Given the description of an element on the screen output the (x, y) to click on. 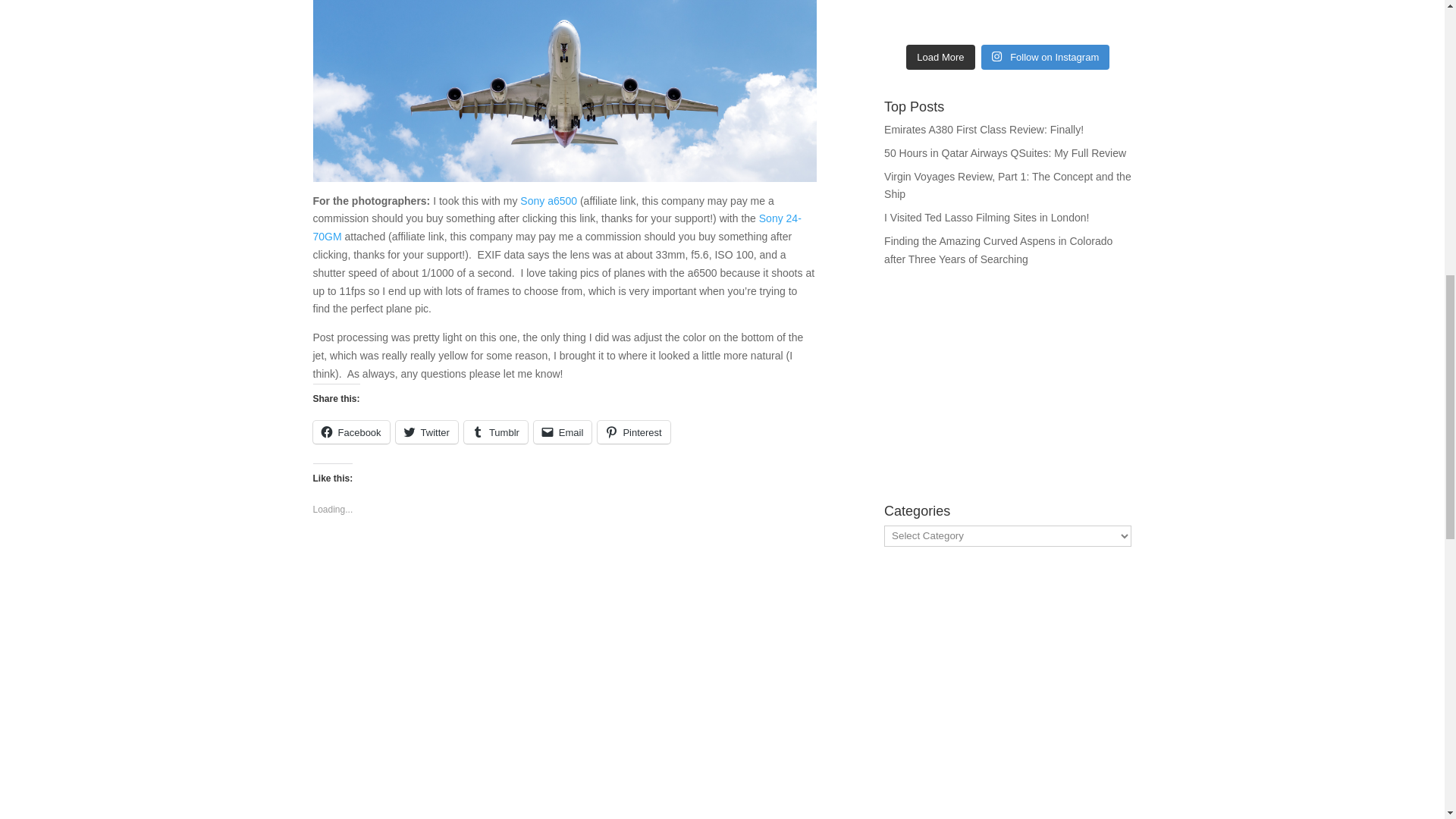
Click to share on Pinterest (632, 431)
Click to email a link to a friend (563, 431)
Click to share on Twitter (427, 431)
Pinterest (632, 431)
Click to share on Tumblr (495, 431)
Facebook (350, 431)
Sony 24-70GM (556, 227)
Tumblr (495, 431)
Twitter (427, 431)
Email (563, 431)
